Given the description of an element on the screen output the (x, y) to click on. 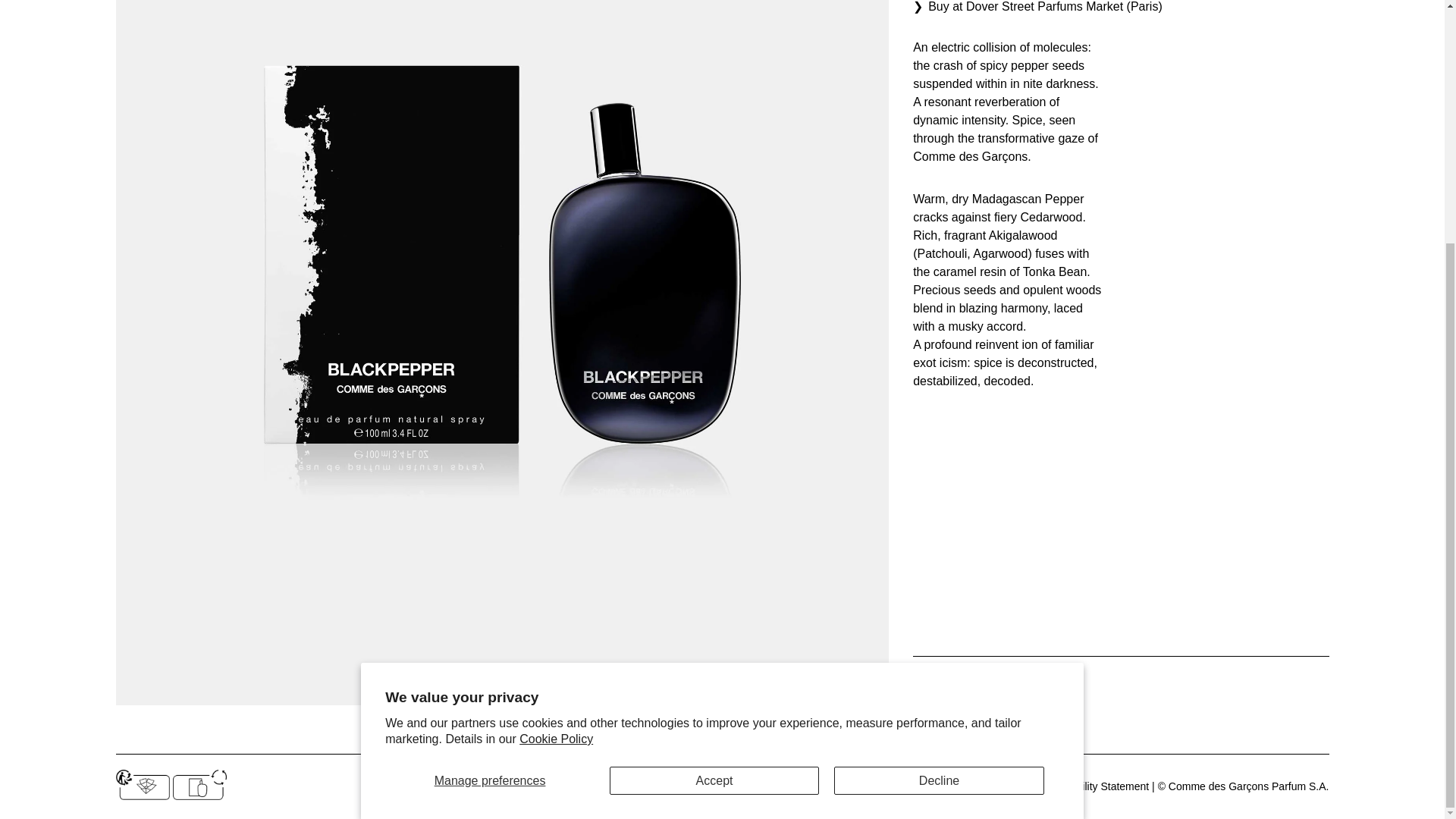
Decline (938, 443)
Cookie Policy (1000, 786)
Accept (714, 443)
Privacy Policy (925, 786)
Instagram (714, 786)
Manage preferences (489, 443)
Contact (764, 786)
Accessibility Statement (1093, 786)
Cookie Policy (555, 400)
